Given the description of an element on the screen output the (x, y) to click on. 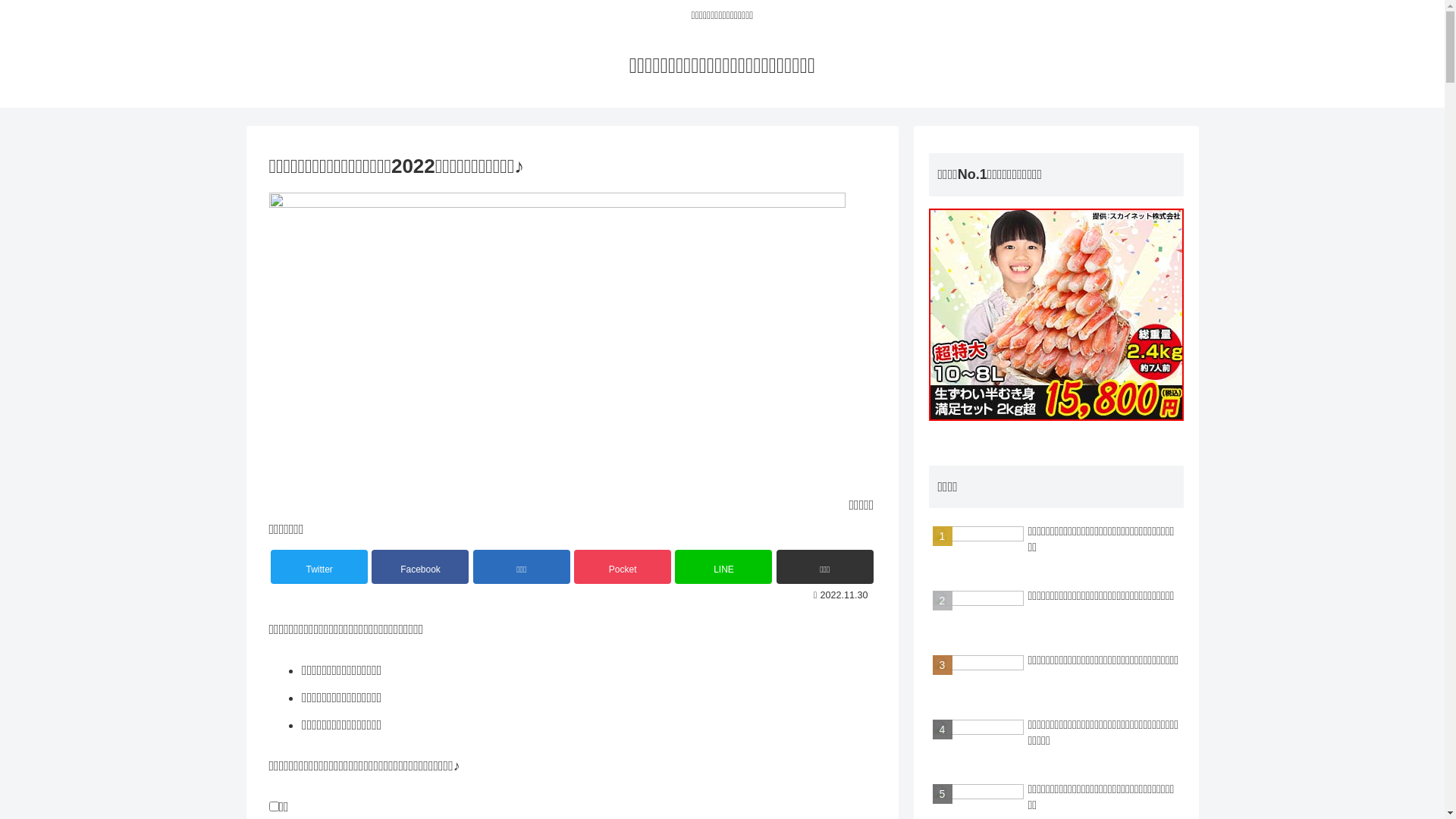
Facebook Element type: text (419, 566)
Pocket Element type: text (622, 566)
LINE Element type: text (722, 566)
Twitter Element type: text (318, 566)
